Given the description of an element on the screen output the (x, y) to click on. 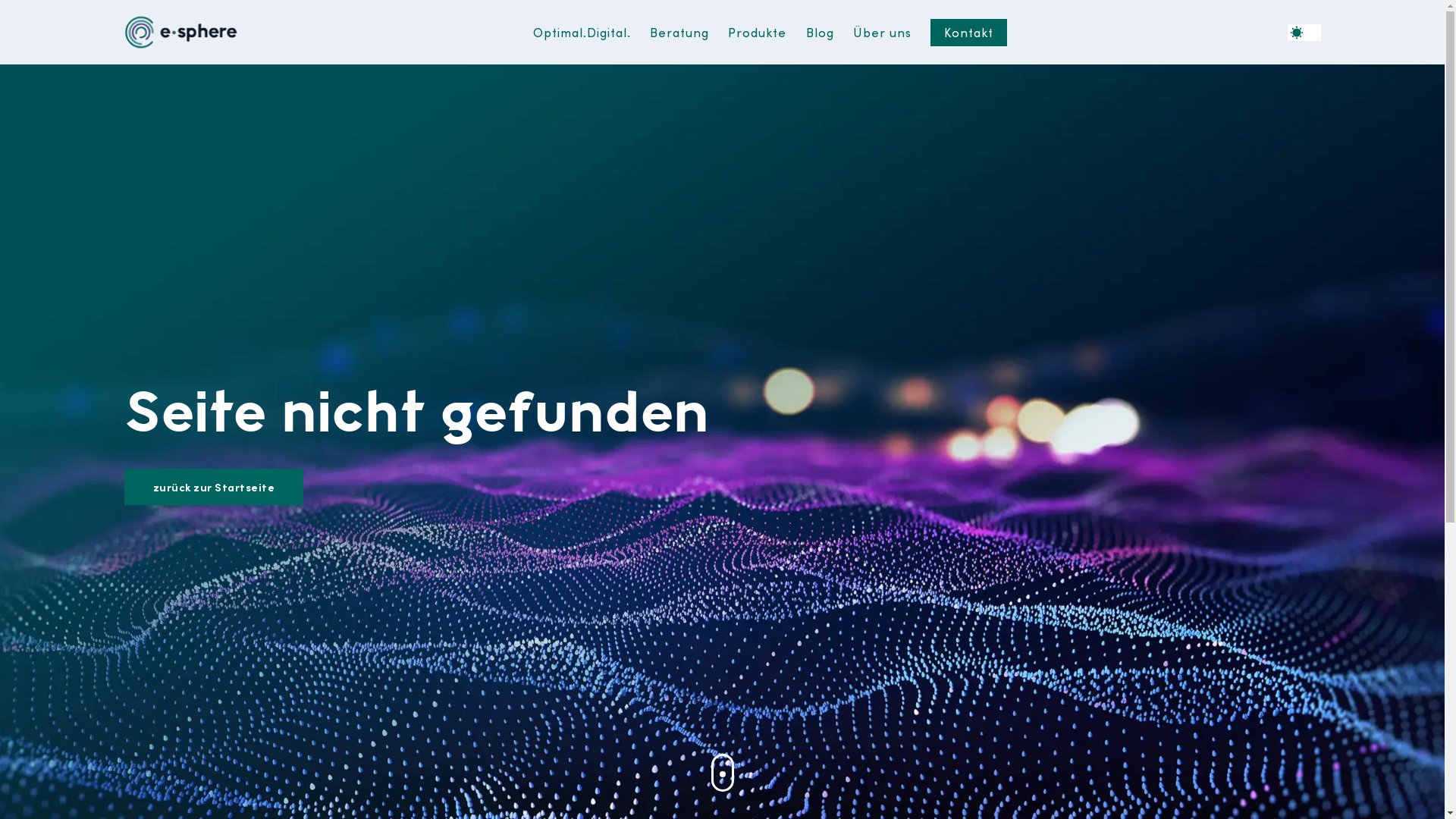
Runter scrollen Element type: hover (722, 772)
Produkte Element type: text (757, 32)
Optimal.Digital. Element type: text (581, 32)
e-sphere Element type: hover (181, 32)
Beratung Element type: text (679, 32)
Blog Element type: text (820, 32)
Kontakt Element type: text (968, 32)
